Given the description of an element on the screen output the (x, y) to click on. 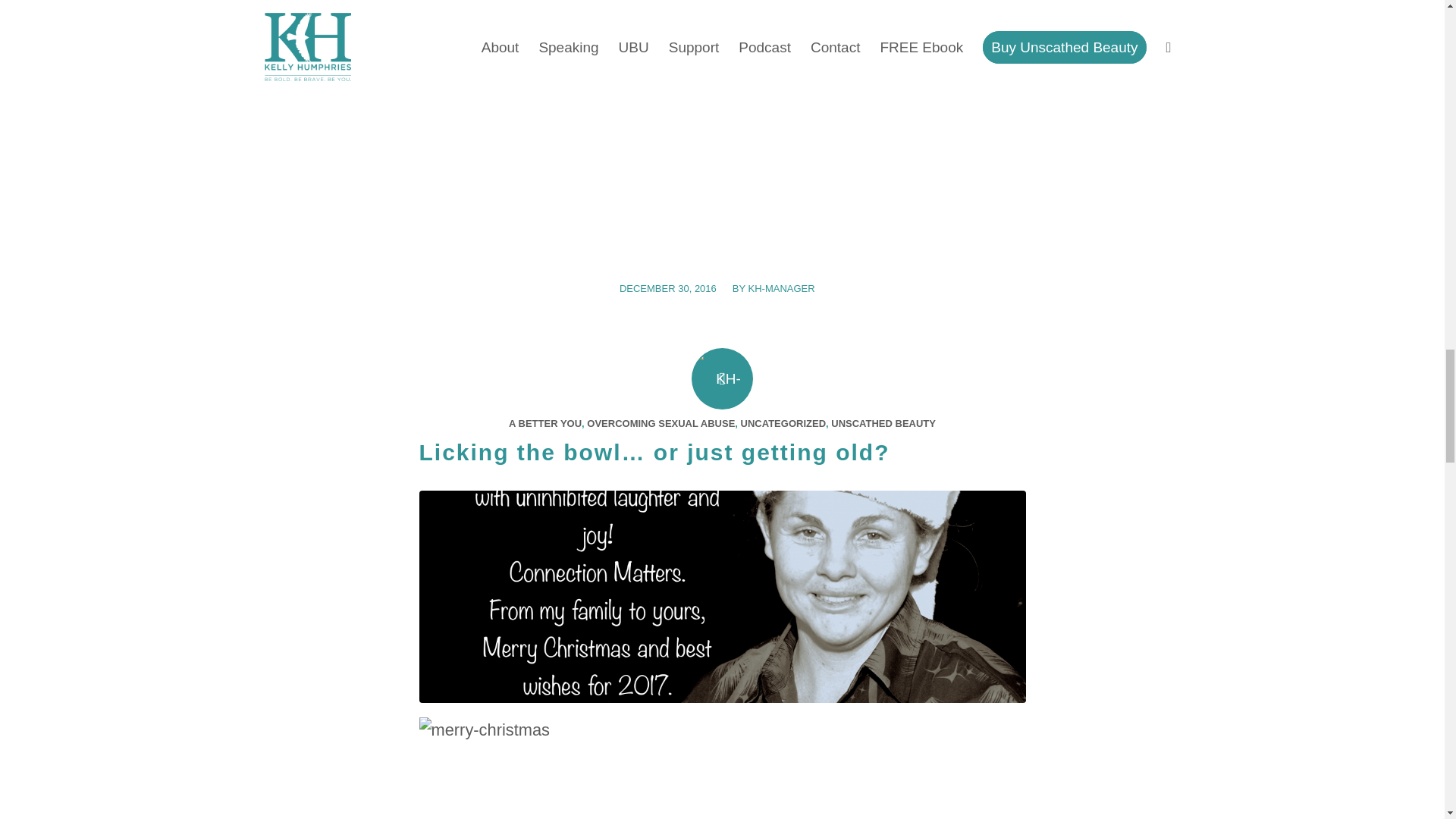
UNCATEGORIZED (783, 423)
A BETTER YOU (544, 423)
Posts by KH-Manager (781, 288)
OVERCOMING SEXUAL ABUSE (660, 423)
UNSCATHED BEAUTY (883, 423)
KH-MANAGER (781, 288)
merry-christmas (722, 596)
